Given the description of an element on the screen output the (x, y) to click on. 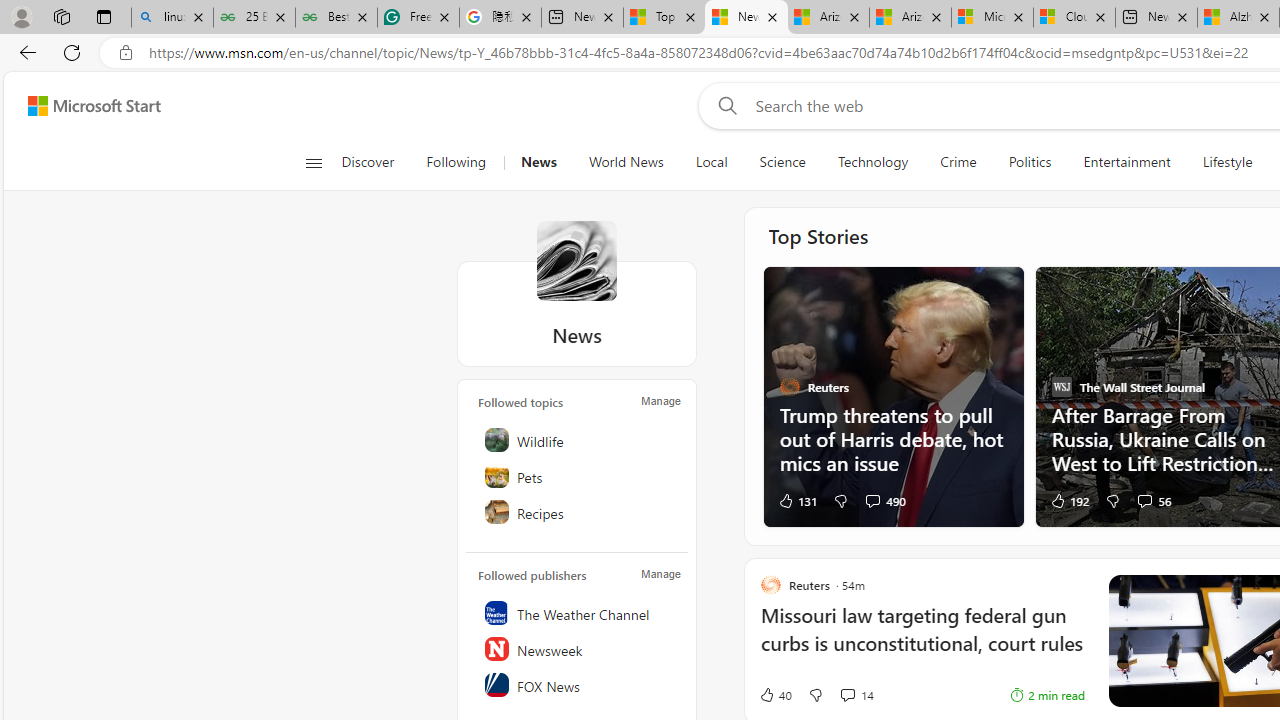
View comments 56 Comment (1144, 500)
Technology (872, 162)
Web search (724, 105)
Science (782, 162)
FOX News (578, 684)
Newsweek (578, 648)
Technology (872, 162)
25 Basic Linux Commands For Beginners - GeeksforGeeks (254, 17)
linux basic - Search (171, 17)
Entertainment (1126, 162)
